Given the description of an element on the screen output the (x, y) to click on. 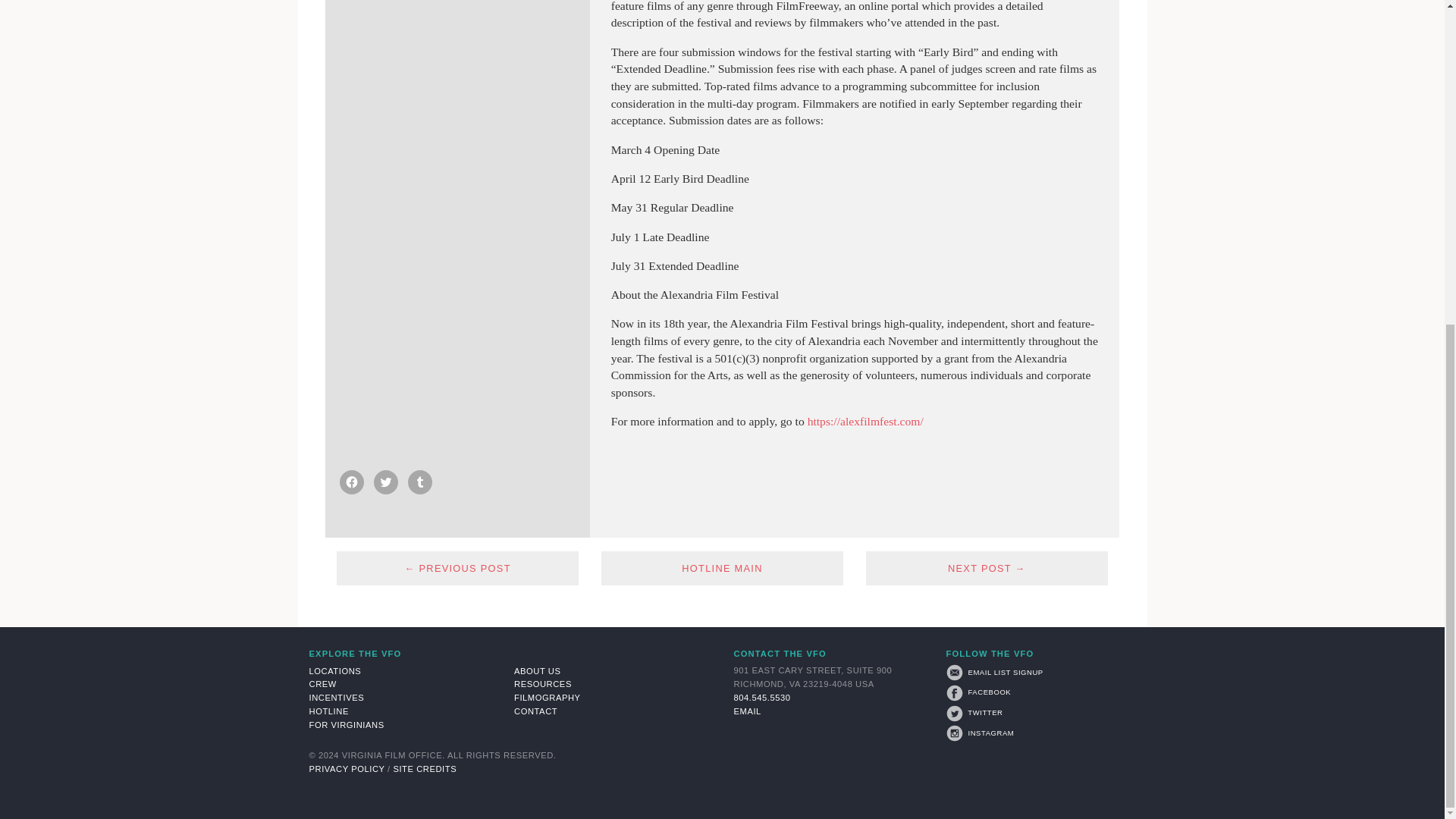
HOTLINE MAIN (722, 568)
Click to share on Twitter (385, 482)
INCENTIVES (407, 698)
LOCATIONS (407, 671)
CREW (407, 684)
Click to share on Tumblr (419, 482)
Click to share on Facebook (351, 482)
